Given the description of an element on the screen output the (x, y) to click on. 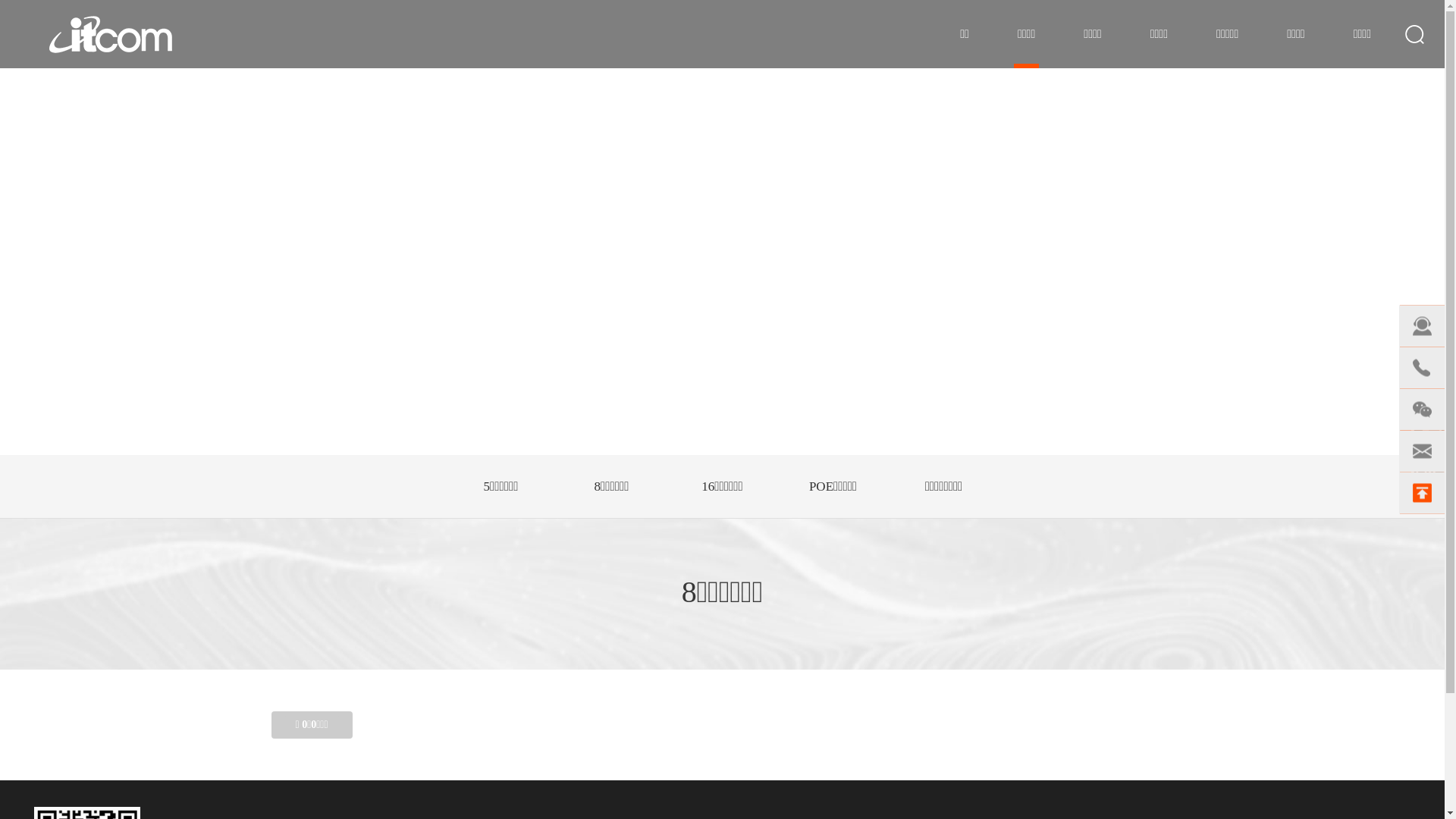
2851368950@qq.com Element type: text (1421, 451)
400-168-0296 Element type: text (1421, 368)
